Given the description of an element on the screen output the (x, y) to click on. 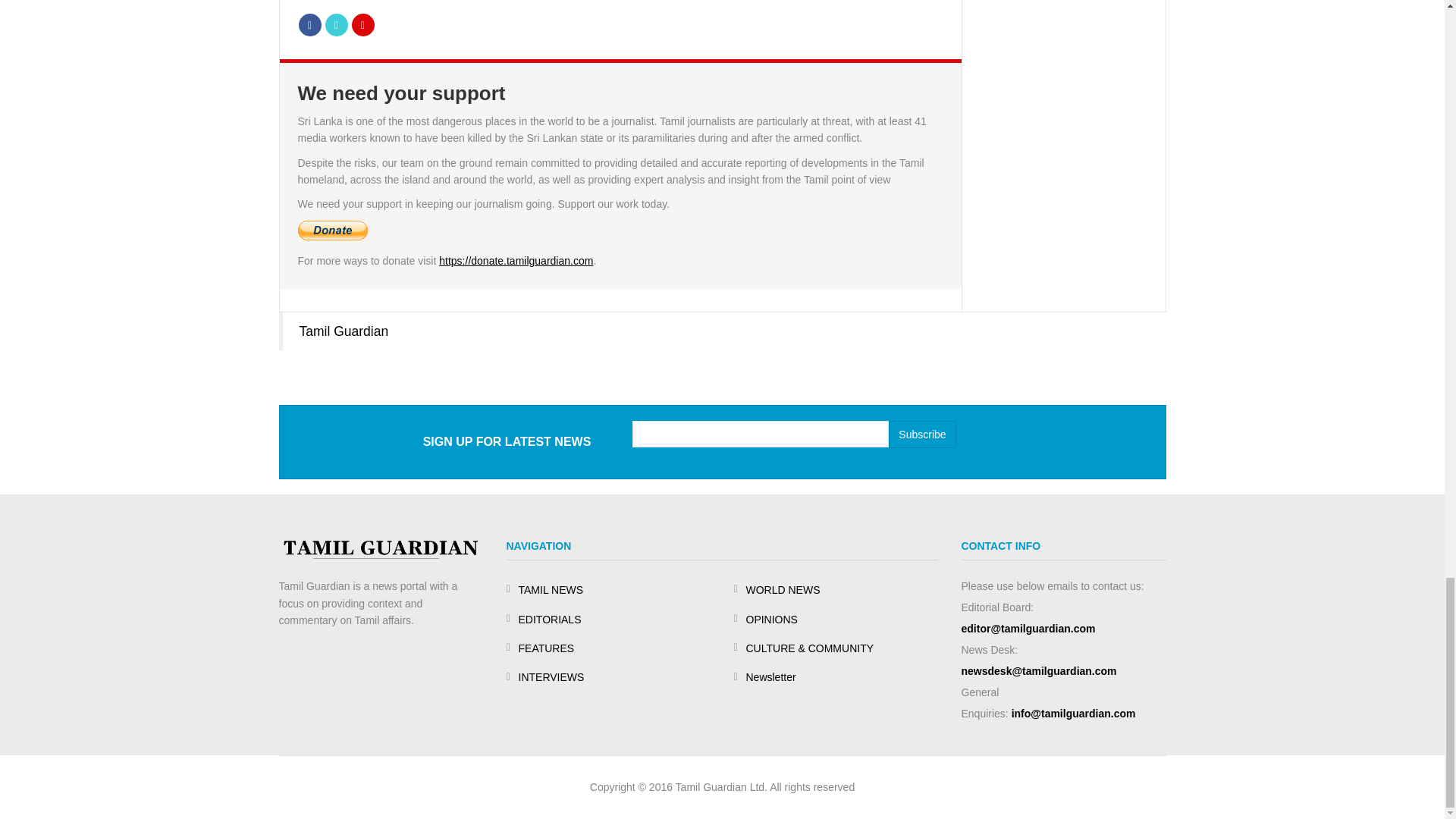
Subscribe (921, 433)
PayPal - The safer, easier way to pay online! (331, 230)
Tweet this (335, 24)
Email (363, 24)
